Given the description of an element on the screen output the (x, y) to click on. 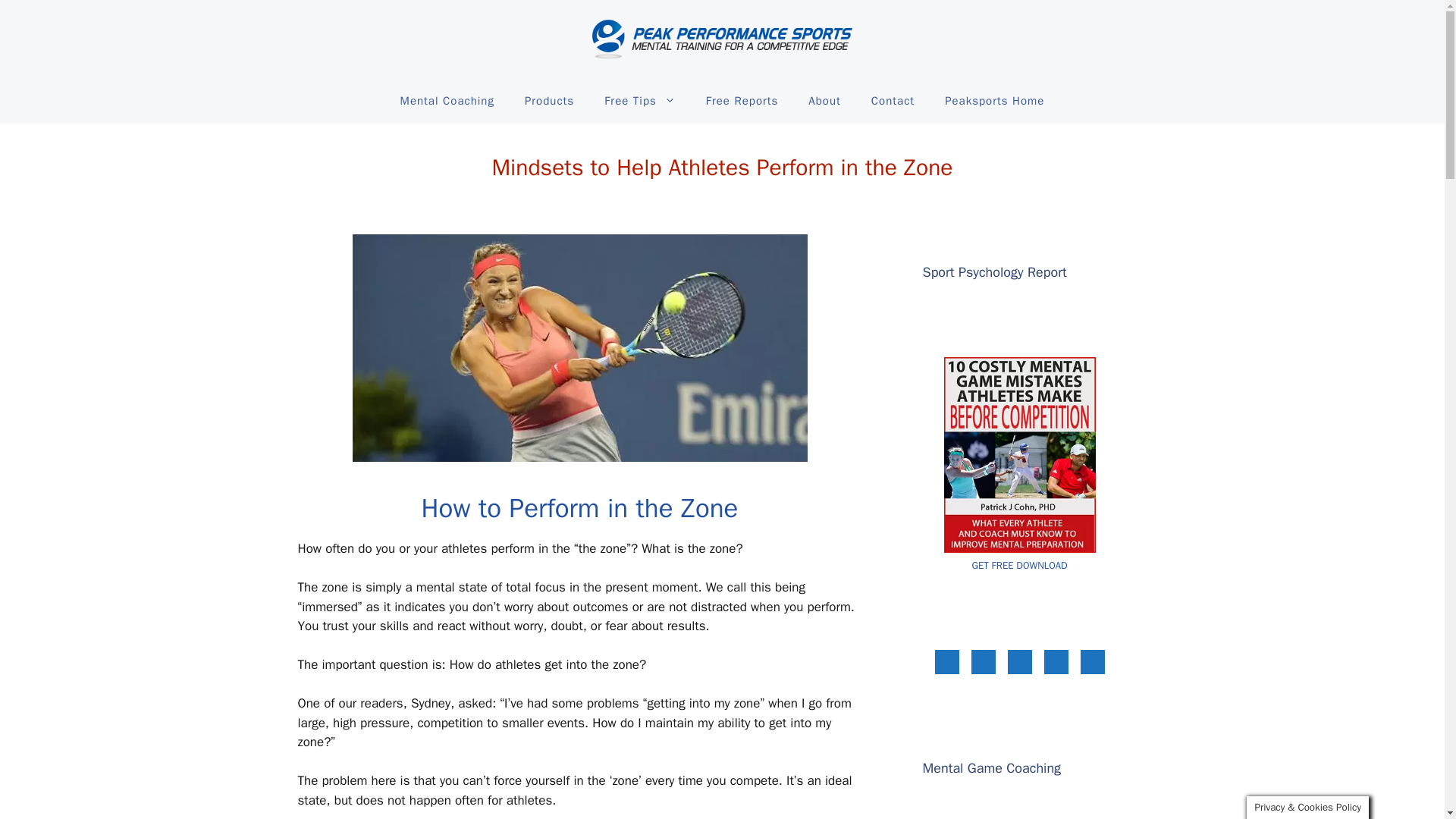
Free Reports (741, 100)
Free Tips (639, 100)
Mental Coaching (447, 100)
Peaksports Home (994, 100)
About (824, 100)
Contact (893, 100)
Products (549, 100)
